Given the description of an element on the screen output the (x, y) to click on. 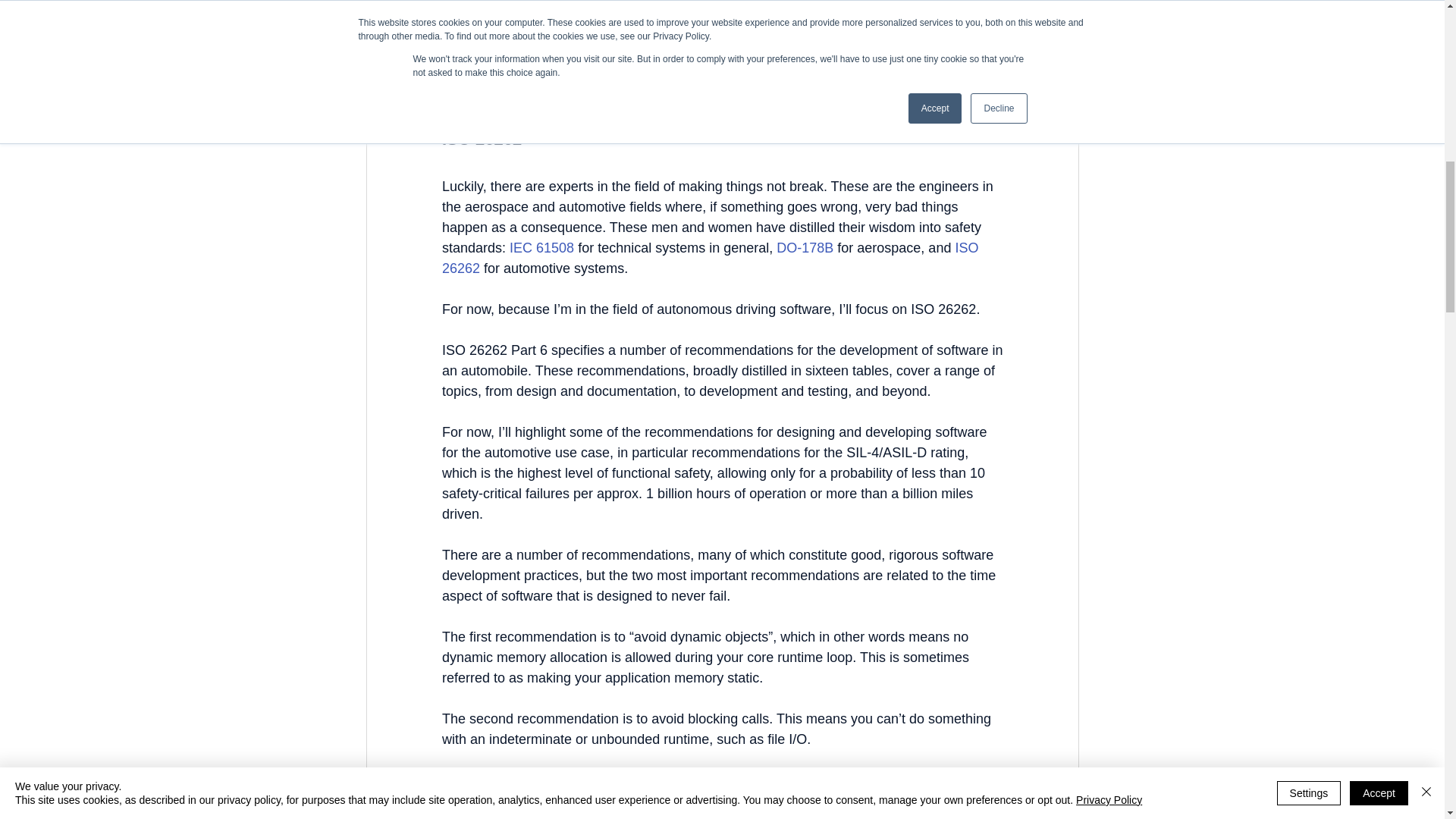
IEC 61508 (541, 247)
ISO 26262 (711, 258)
DO-178B (804, 247)
